Given the description of an element on the screen output the (x, y) to click on. 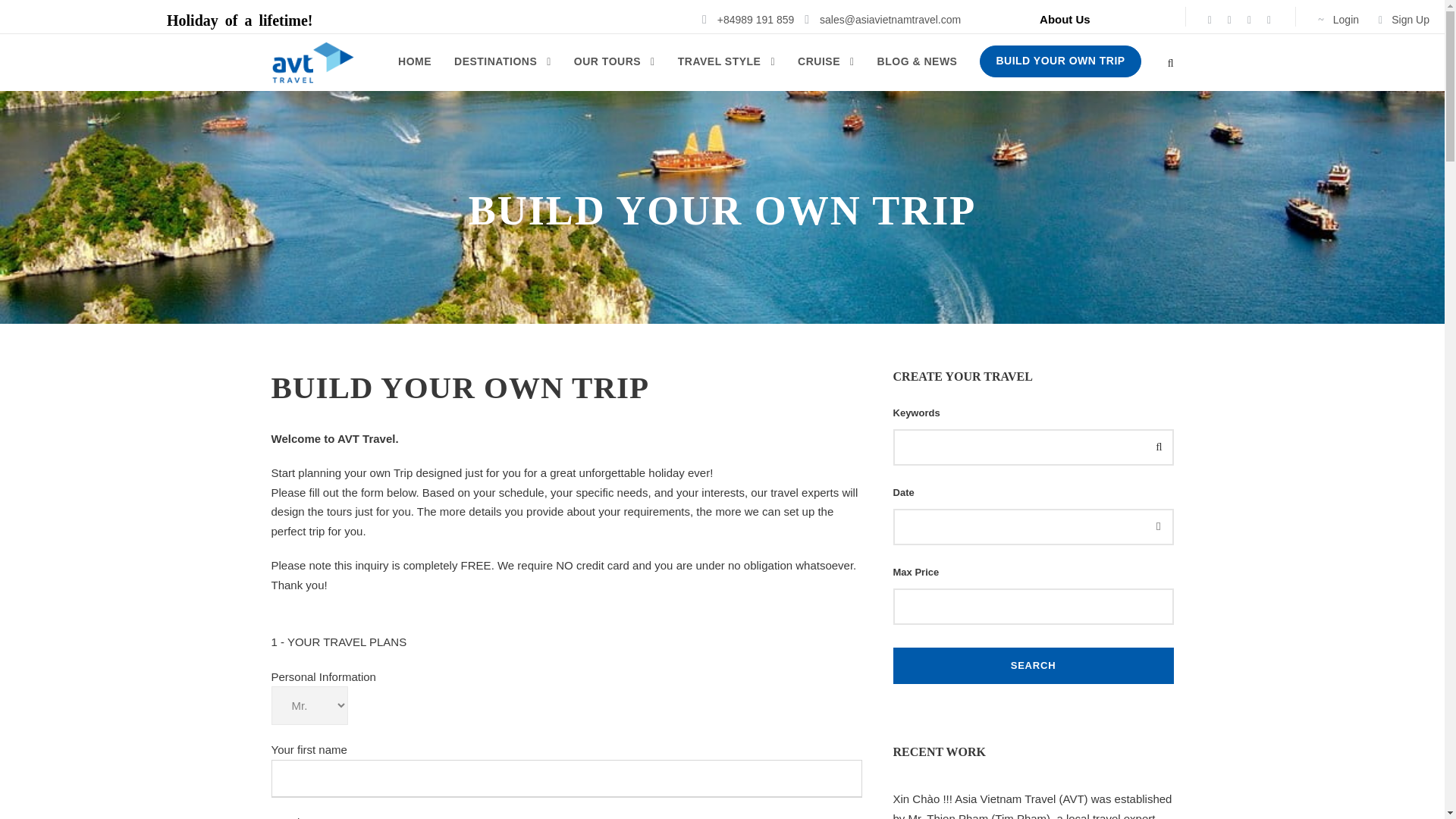
Search (1033, 665)
Logo1 (312, 62)
